Given the description of an element on the screen output the (x, y) to click on. 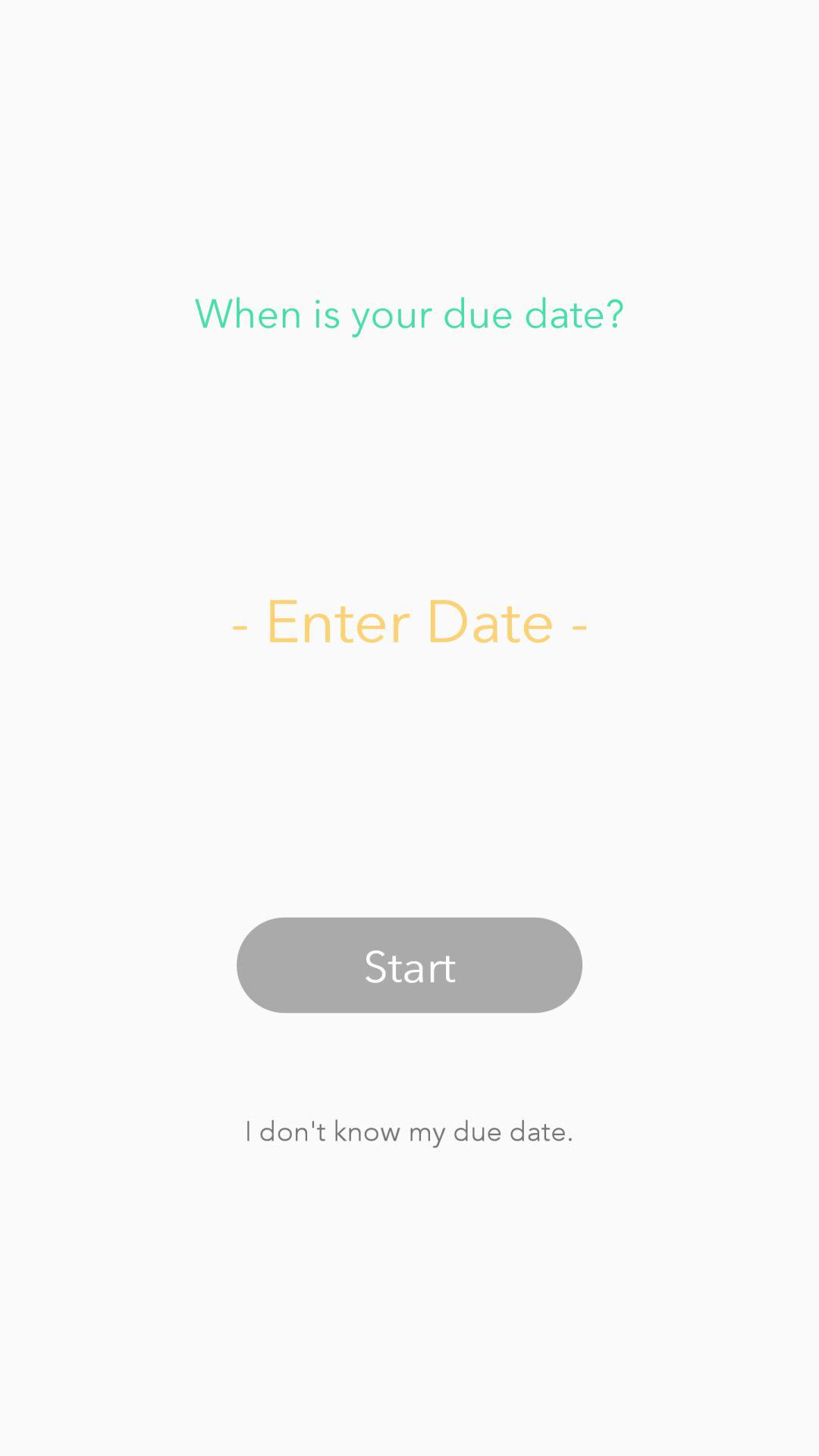
select item below - enter date - (409, 964)
